Given the description of an element on the screen output the (x, y) to click on. 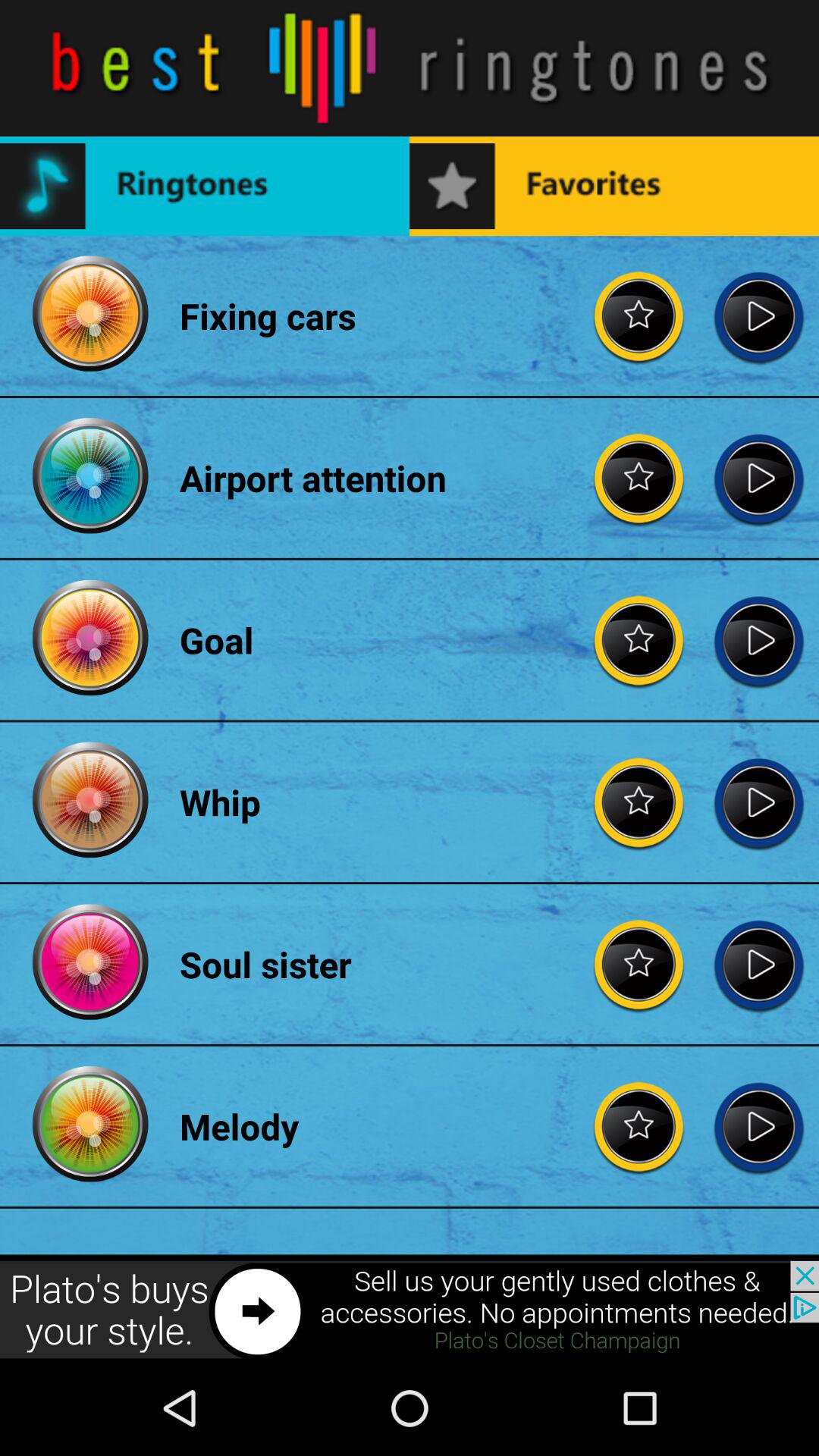
go next (758, 315)
